Given the description of an element on the screen output the (x, y) to click on. 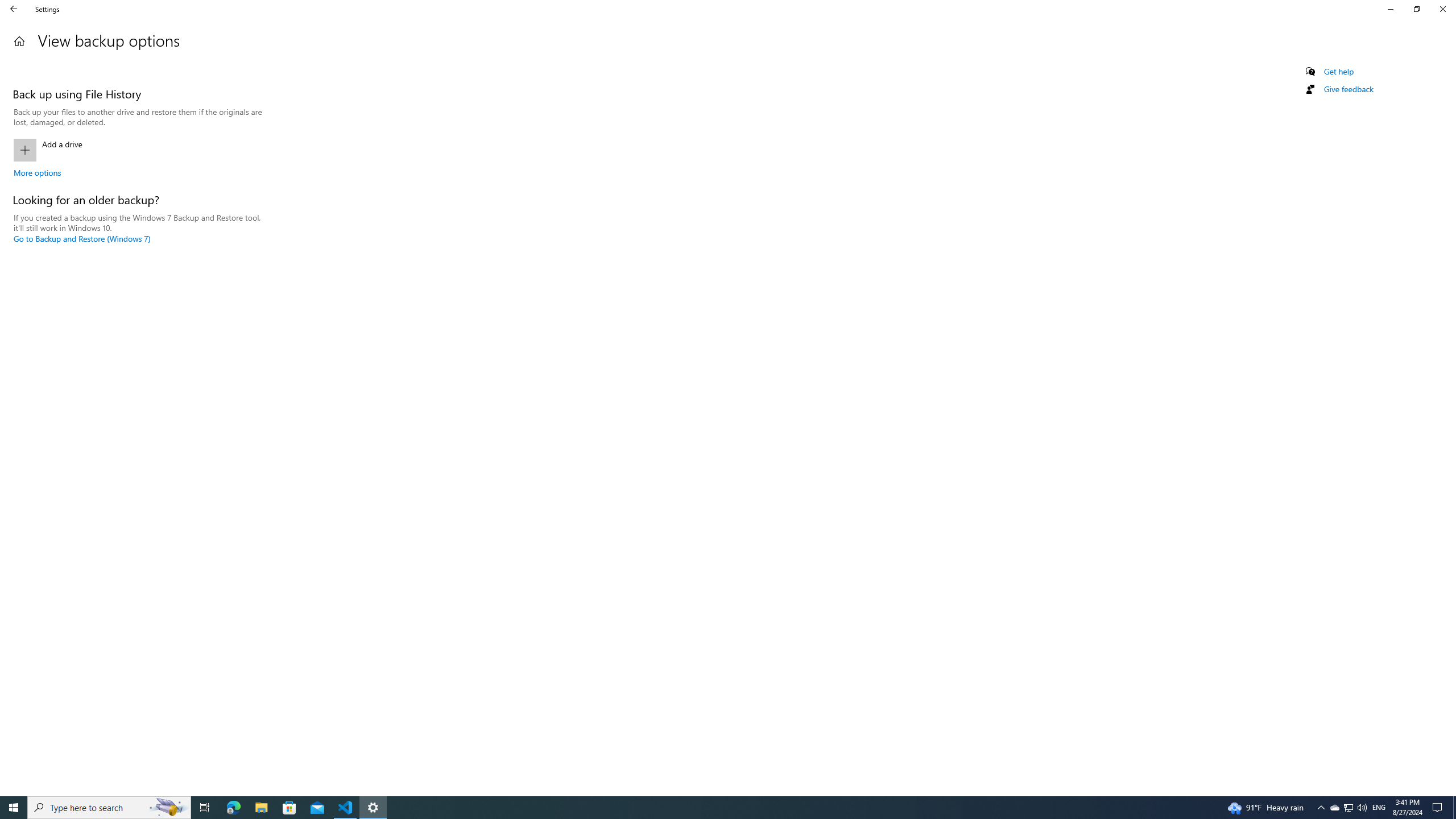
Close Settings (1442, 9)
Go to Backup and Restore (Windows 7) (82, 238)
Back (13, 9)
Restore Settings (1416, 9)
Home (19, 40)
Minimize Settings (1390, 9)
